Given the description of an element on the screen output the (x, y) to click on. 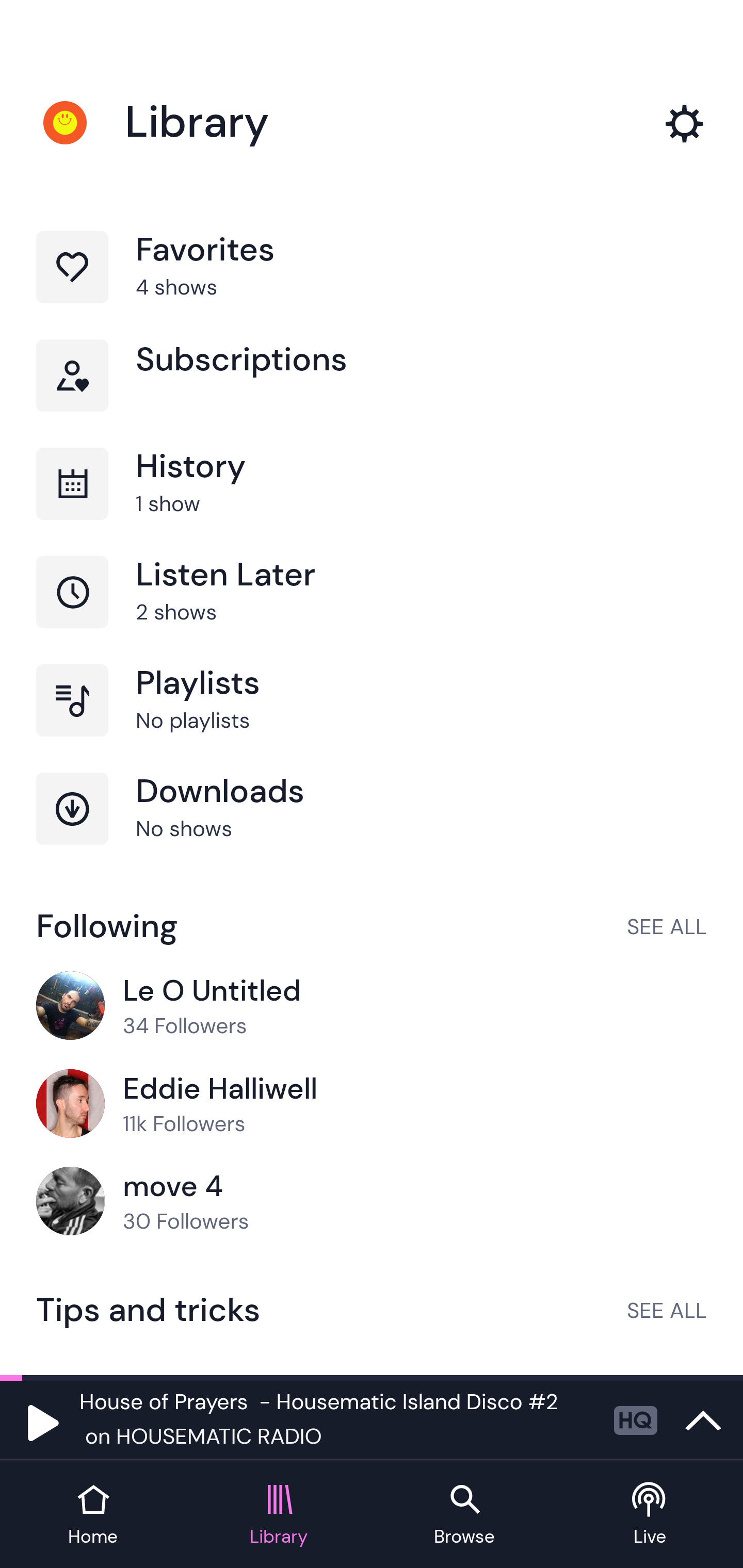
Favorites, 4 shows Favorites 4 shows (371, 284)
Subscriptions (371, 393)
History, 1 show History 1 show (371, 502)
Listen Later, 2 shows Listen Later 2 shows (371, 610)
Playlists, No playlists Playlists No playlists (371, 718)
Downloads, No shows Downloads No shows (371, 827)
SEE ALL (666, 926)
move 4, 30 Followers move 4 30 Followers (371, 1201)
SEE ALL (666, 1309)
Home tab Home (92, 1515)
Library tab Library (278, 1515)
Browse tab Browse (464, 1515)
Live tab Live (650, 1515)
